Given the description of an element on the screen output the (x, y) to click on. 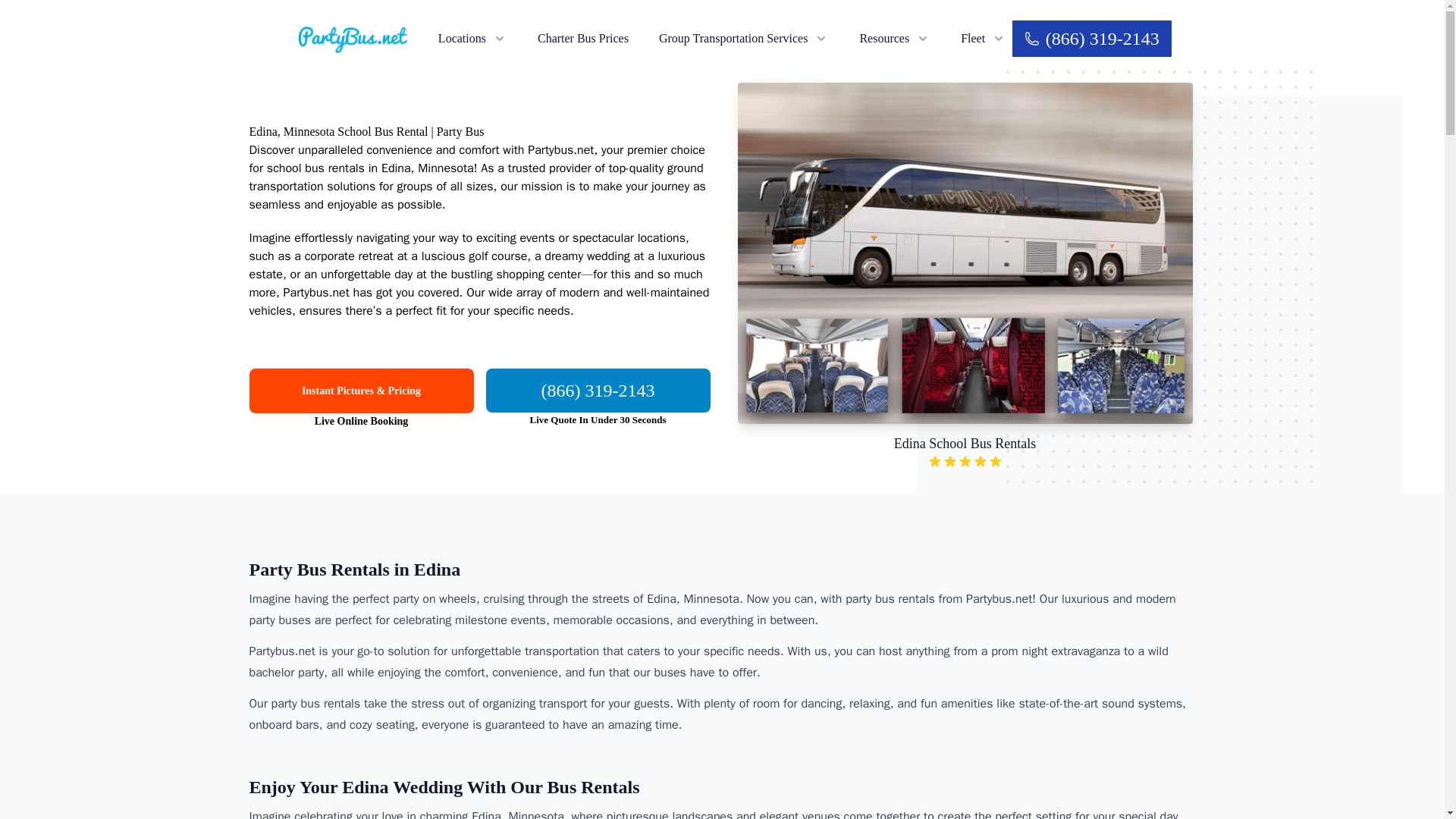
Bus Charter Logo (352, 38)
Charter Bus Prices (582, 38)
Locations (472, 38)
